Given the description of an element on the screen output the (x, y) to click on. 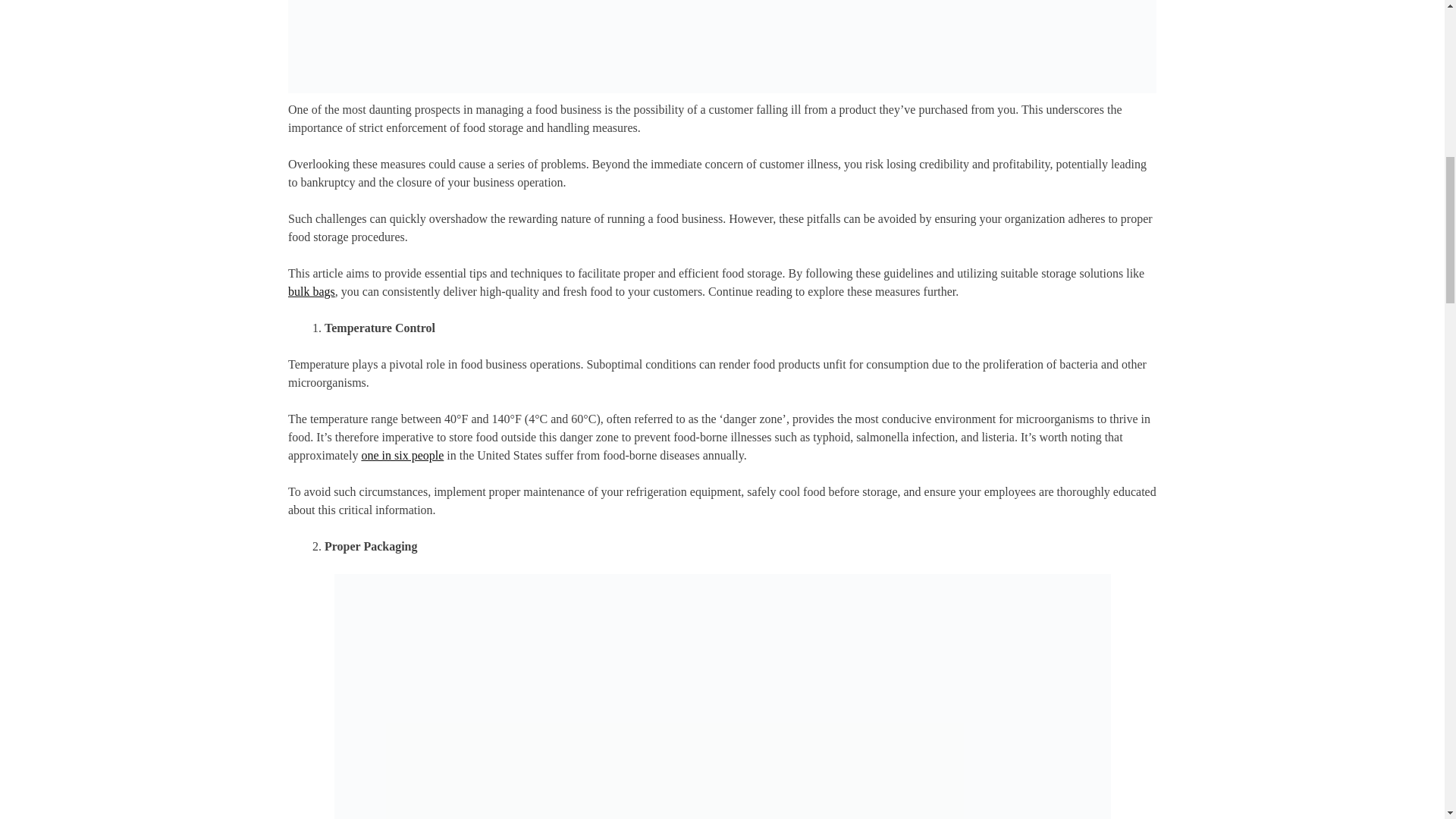
one in six people (402, 454)
bulk bags (311, 291)
